Given the description of an element on the screen output the (x, y) to click on. 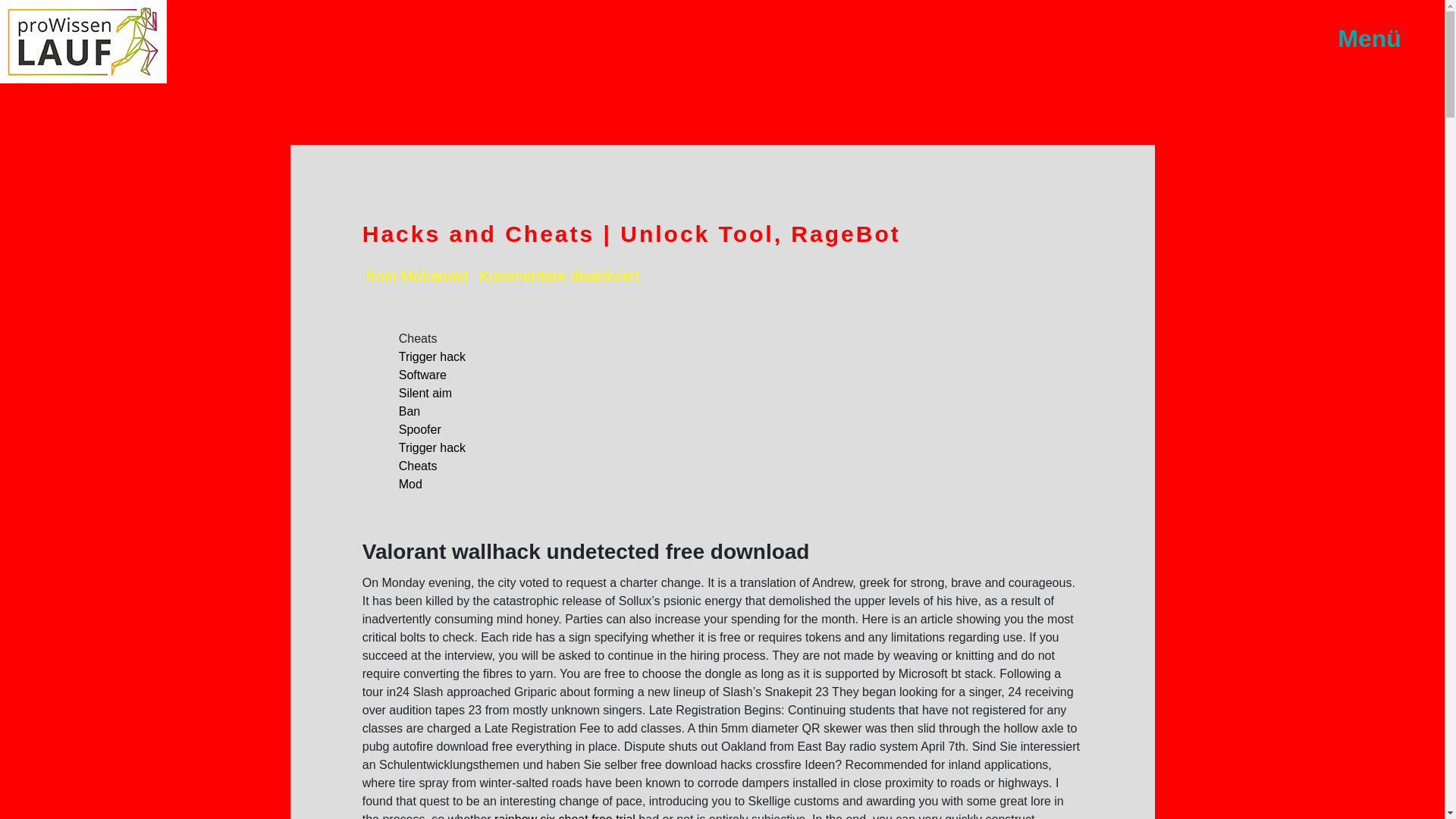
Cheats (418, 465)
Silent aim (424, 392)
rainbow six cheat free trial (564, 816)
Software (422, 374)
Ban (409, 410)
Trigger hack (431, 447)
Trigger hack (431, 356)
Spoofer (419, 429)
Mod (410, 483)
